Given the description of an element on the screen output the (x, y) to click on. 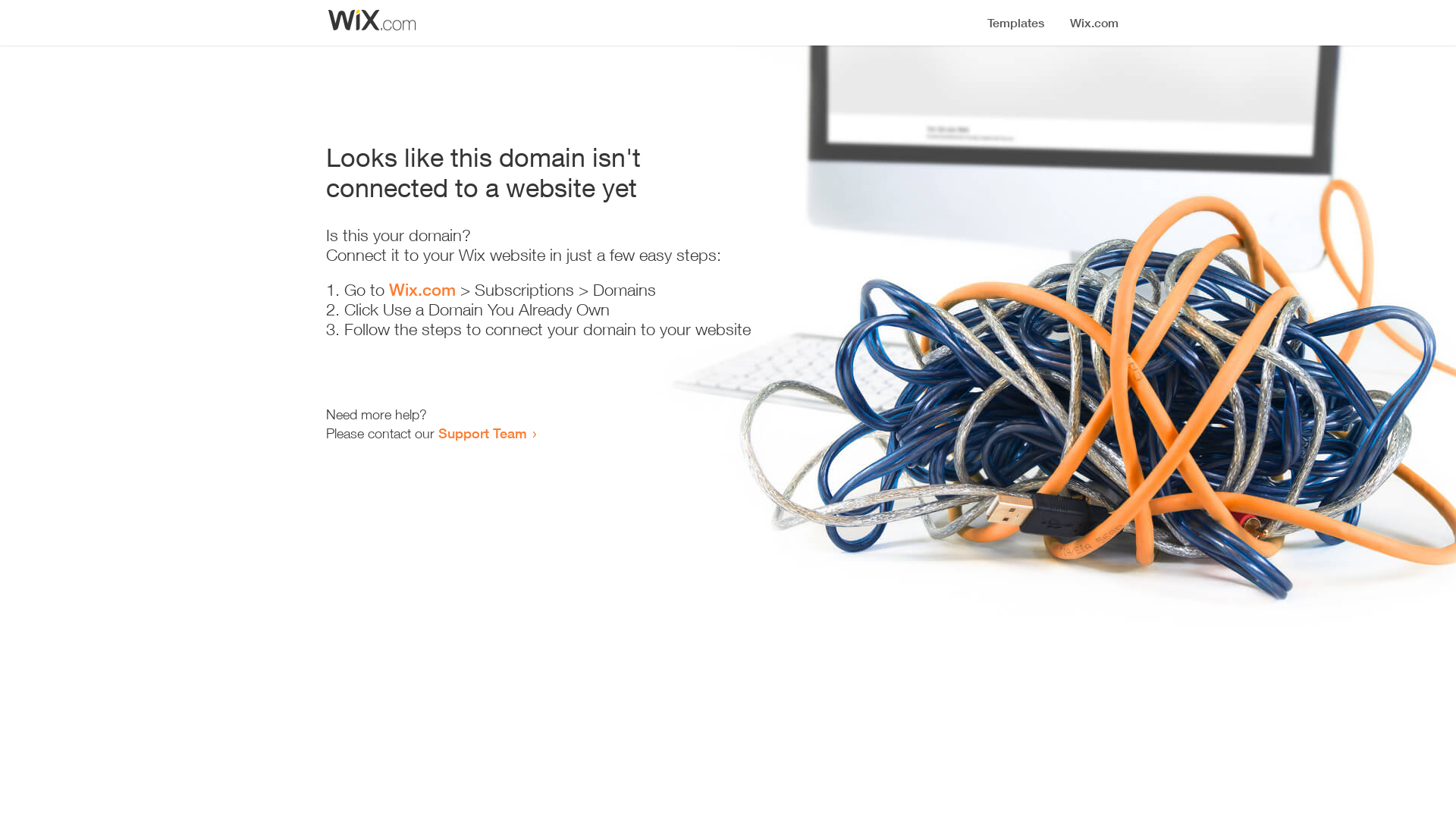
Support Team Element type: text (482, 432)
Wix.com Element type: text (422, 289)
